Given the description of an element on the screen output the (x, y) to click on. 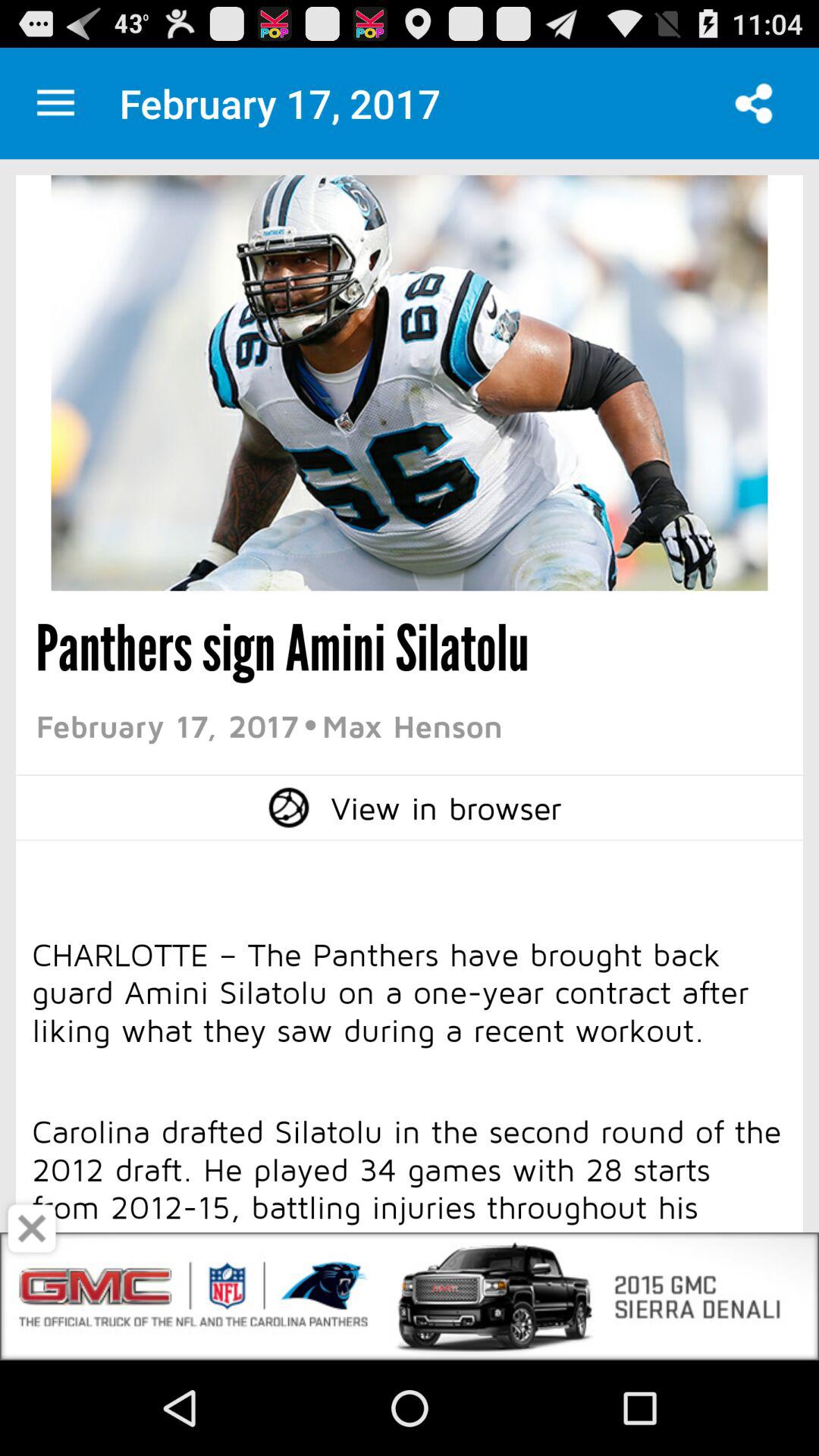
x out of this page (31, 1228)
